Given the description of an element on the screen output the (x, y) to click on. 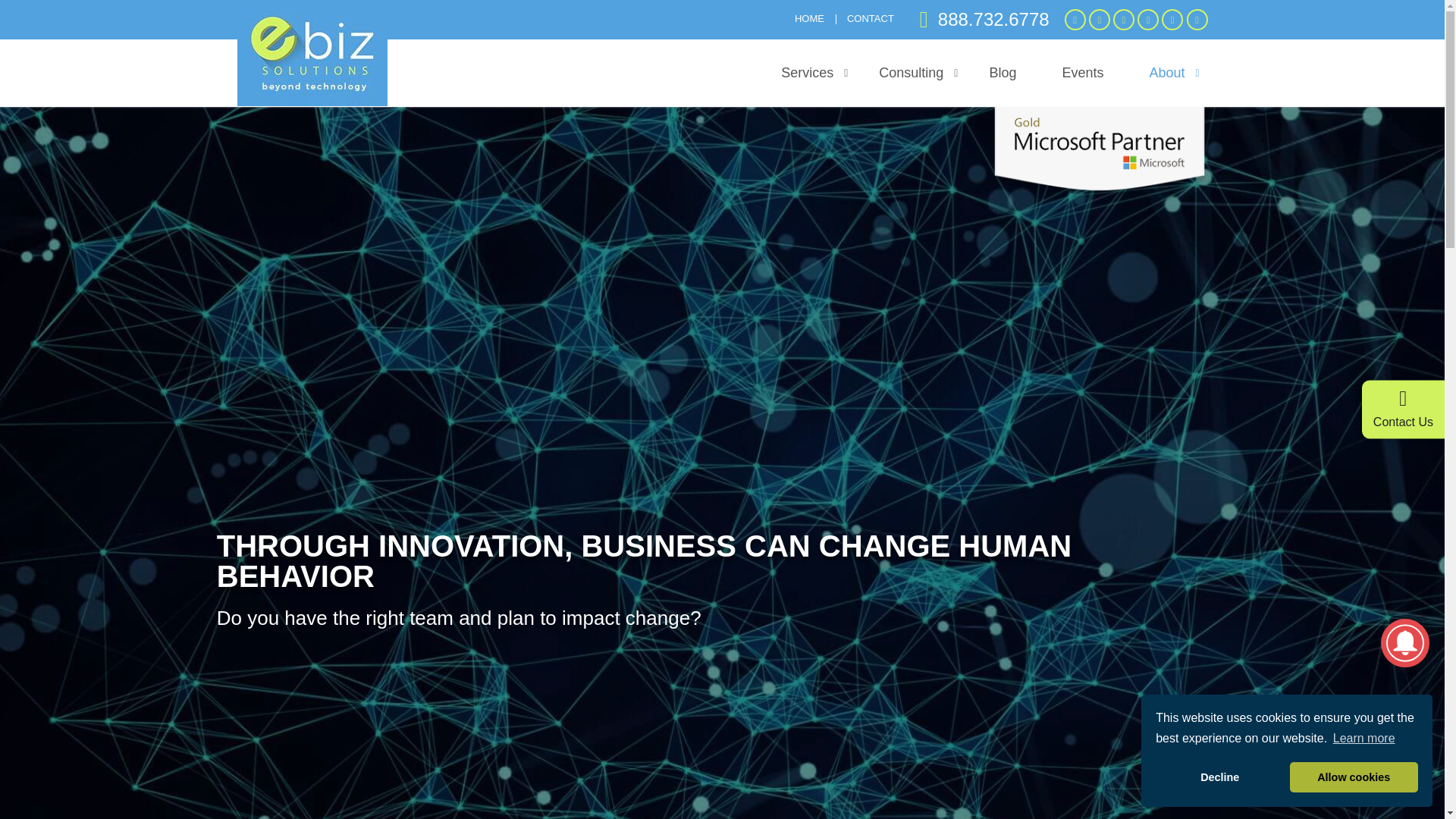
Services (807, 73)
Learn more (1363, 738)
888.732.6778 (983, 19)
Decline (1220, 777)
CONTACT (870, 18)
Allow cookies (1354, 777)
HOME (809, 18)
